Given the description of an element on the screen output the (x, y) to click on. 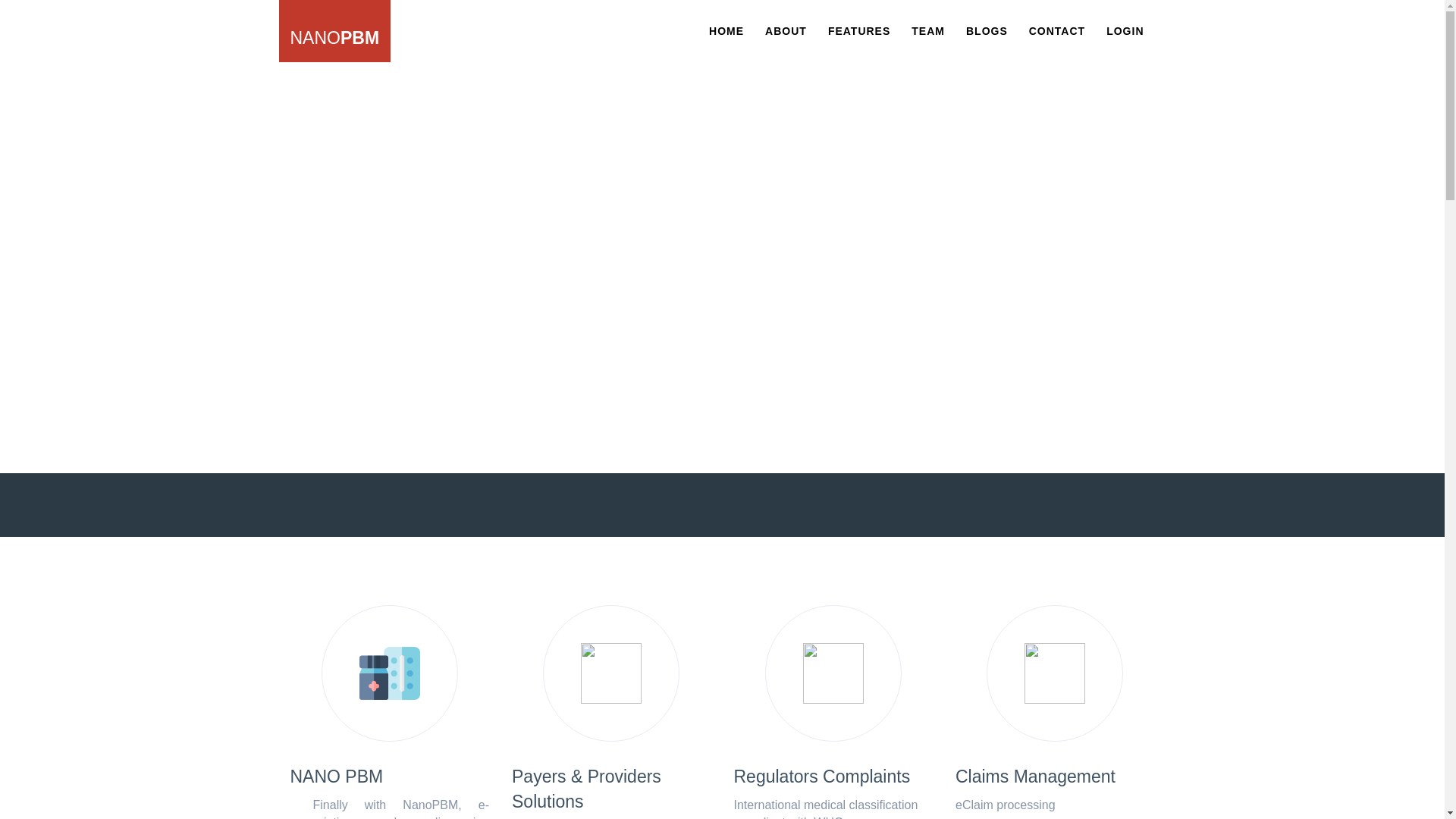
TEAM (928, 30)
HOME (726, 30)
BLOGS (986, 31)
ABOUT (785, 31)
LOGIN (1124, 30)
CONTACT (1056, 31)
CONTACT (1056, 30)
HOME (726, 31)
FEATURES (858, 30)
ABOUT (785, 30)
BLOGS (986, 30)
NANOPBM (339, 31)
FEATURES (858, 31)
NANOPBM (335, 31)
